Given the description of an element on the screen output the (x, y) to click on. 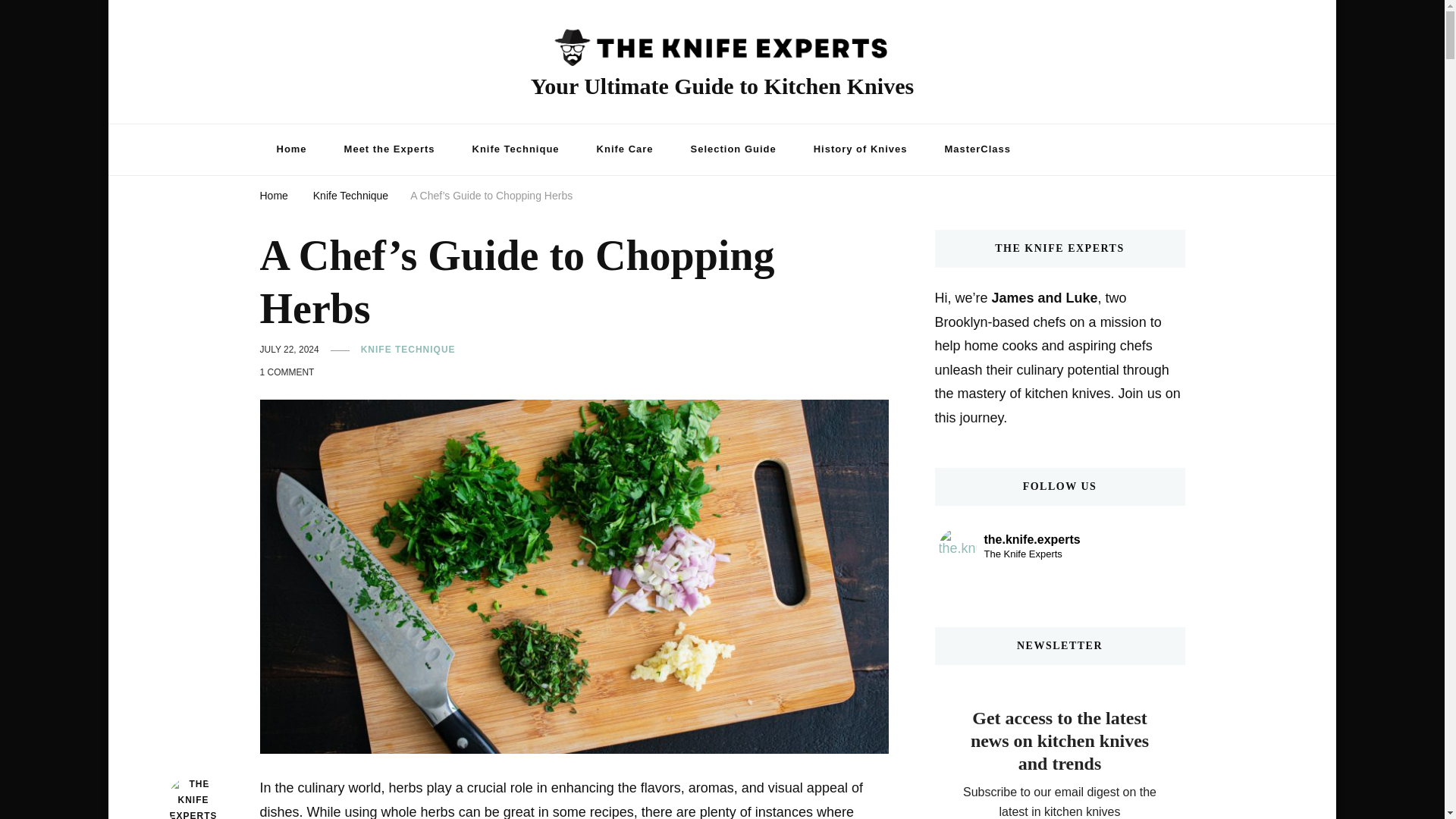
Knife Technique (515, 149)
KNIFE TECHNIQUE (408, 350)
Selection Guide (733, 149)
THE KNIFE EXPERTS (193, 797)
Meet the Experts (389, 149)
JULY 22, 2024 (288, 350)
MasterClass (977, 149)
Home (272, 194)
Knife Care (624, 149)
Home (291, 149)
